Given the description of an element on the screen output the (x, y) to click on. 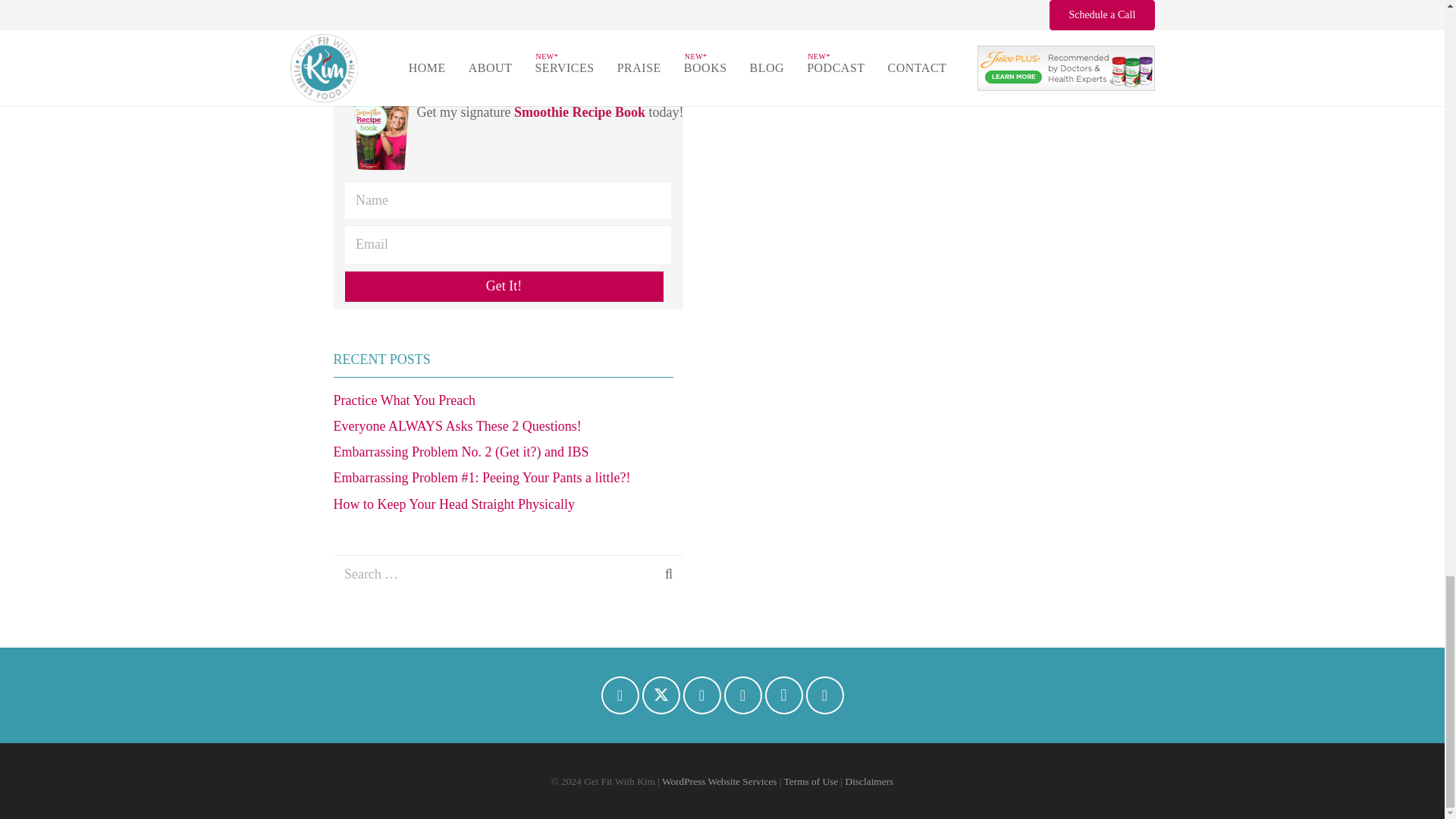
LinkedIn (701, 695)
Twitter (384, 2)
RSS (523, 2)
Twitter (660, 695)
Get It! (502, 286)
Facebook (349, 2)
LinkedIn (419, 2)
Facebook (619, 695)
Instagram (488, 2)
YouTube (454, 2)
